Given the description of an element on the screen output the (x, y) to click on. 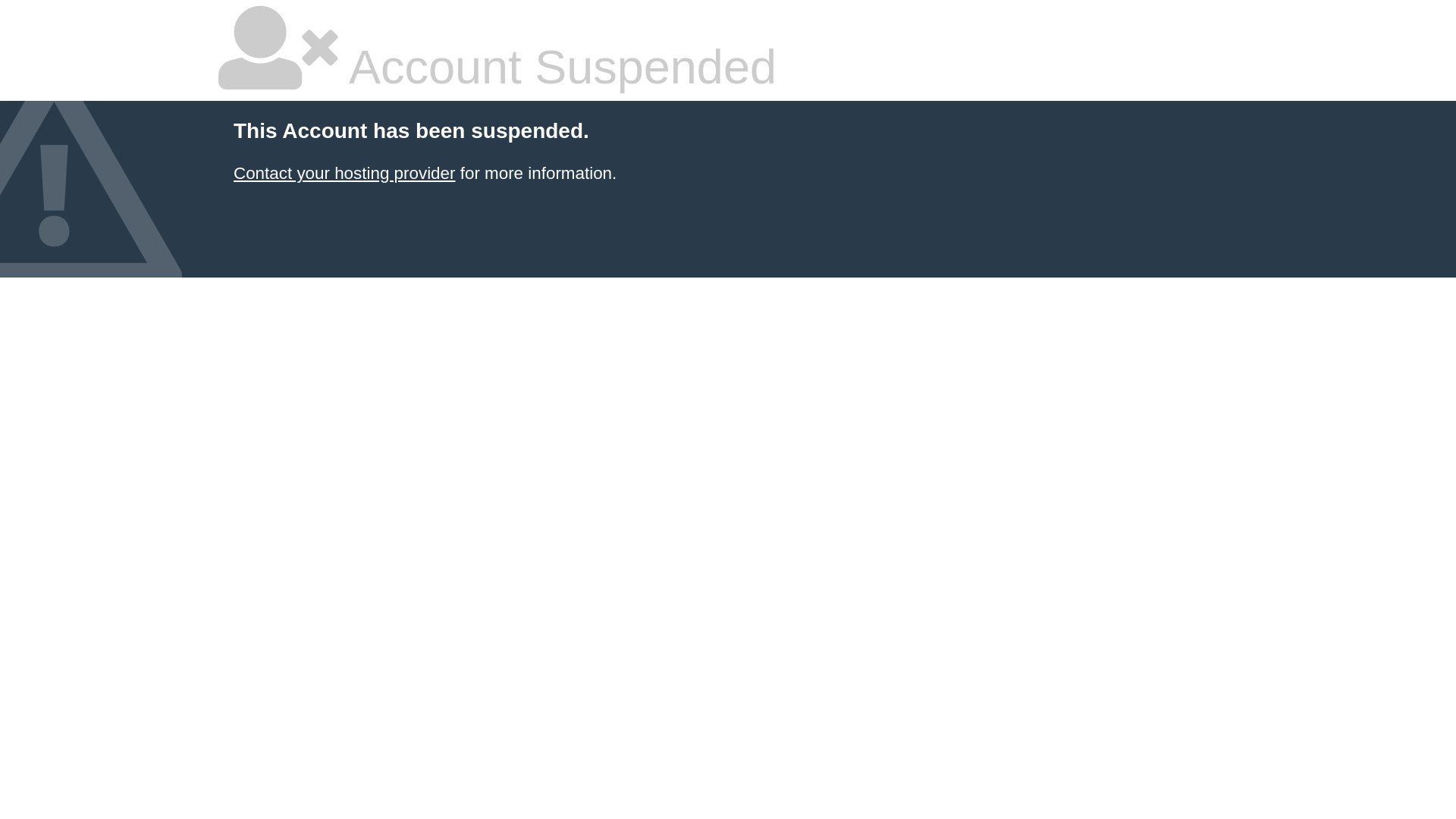
Contact your hosting provider Element type: text (344, 172)
